Given the description of an element on the screen output the (x, y) to click on. 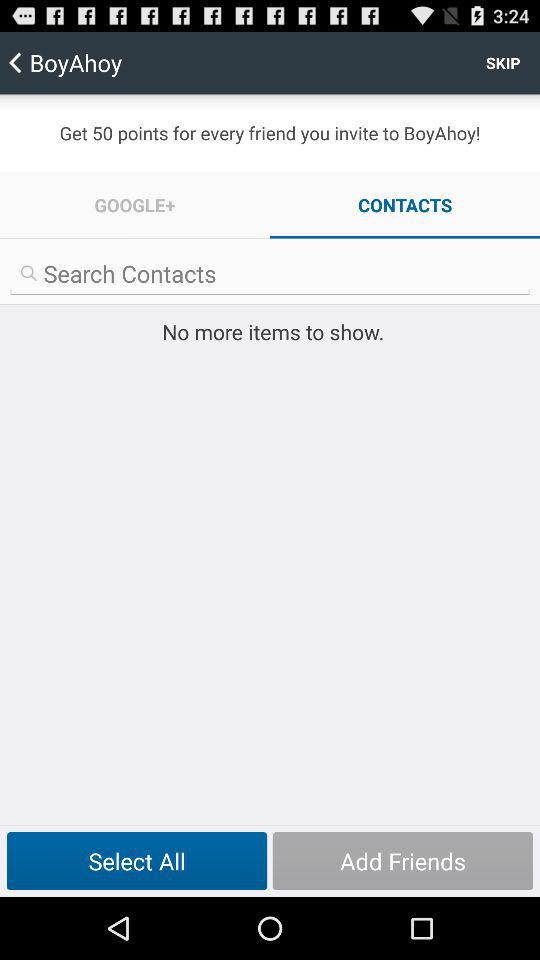
toggle search option (269, 274)
